Given the description of an element on the screen output the (x, y) to click on. 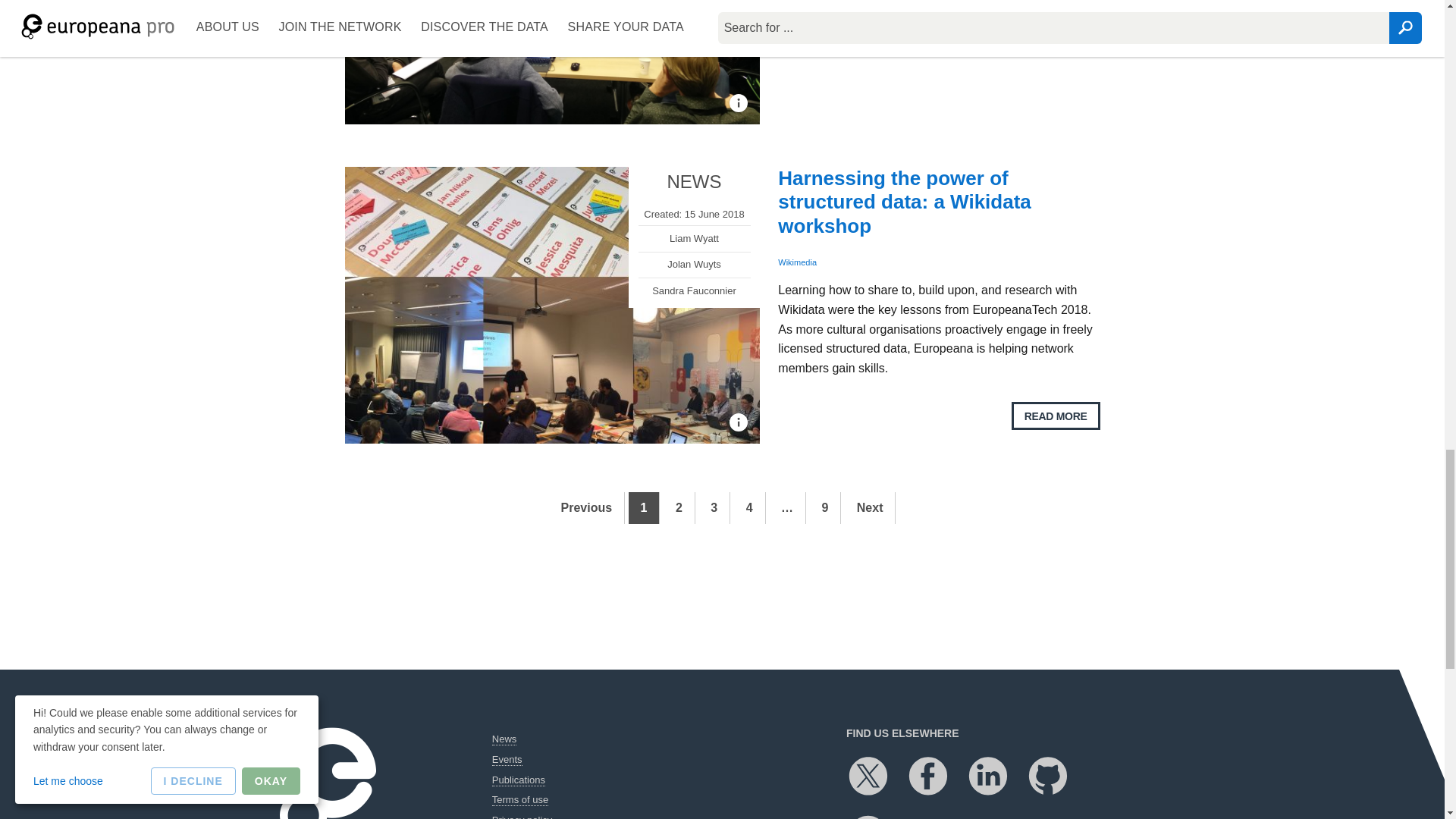
News (504, 739)
Publications (518, 779)
Events (507, 759)
